Given the description of an element on the screen output the (x, y) to click on. 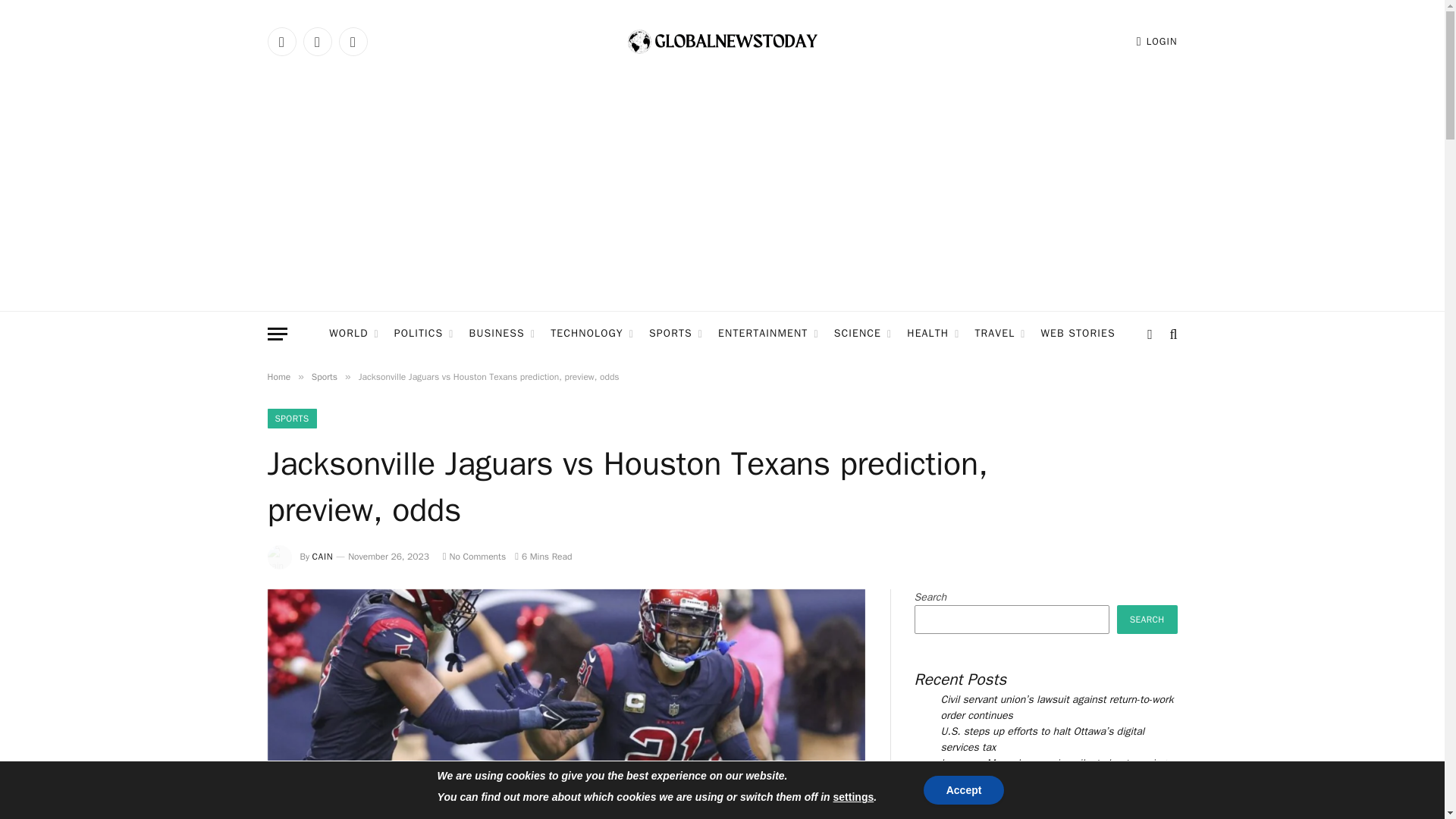
WORLD (353, 334)
POLITICS (424, 334)
GlobalNewsToday (721, 41)
Instagram (351, 41)
LOGIN (1157, 41)
Facebook (280, 41)
